Given the description of an element on the screen output the (x, y) to click on. 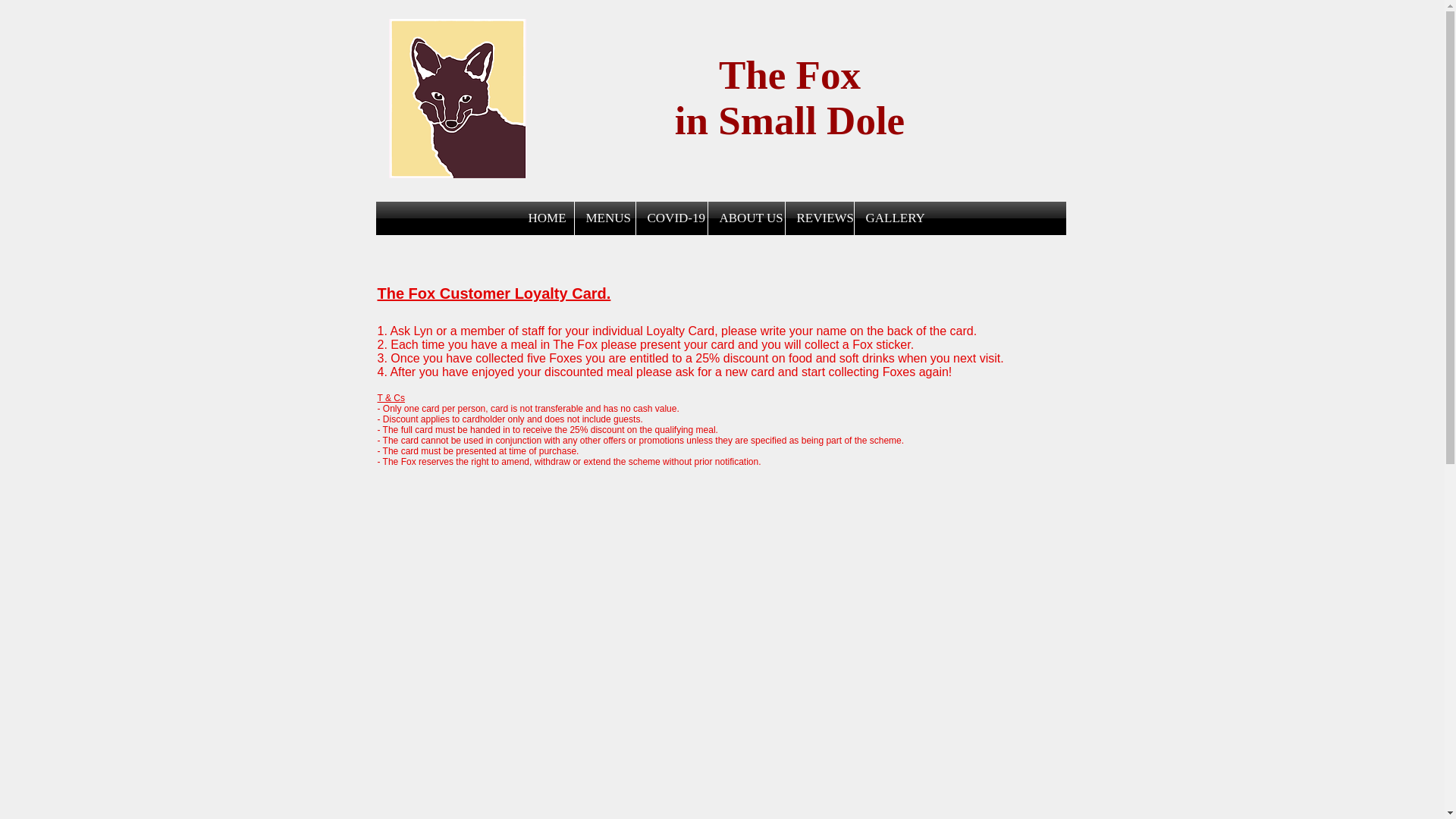
ABOUT US (745, 218)
HOME (544, 218)
REVIEWS (819, 218)
GALLERY (888, 218)
COVID-19 (670, 218)
MENUS (604, 218)
